Given the description of an element on the screen output the (x, y) to click on. 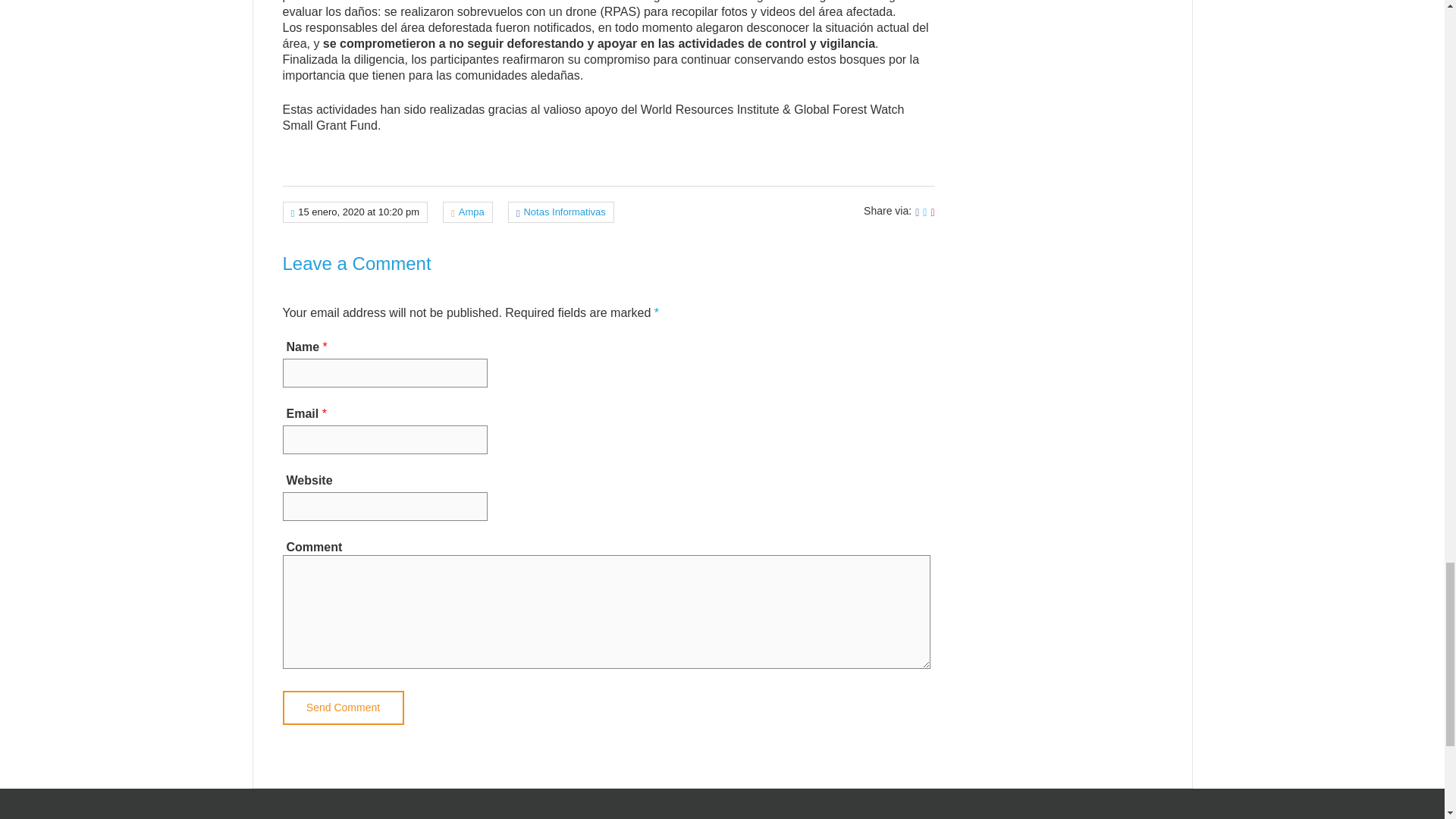
Ampa (471, 211)
Send Comment (342, 707)
Notas Informativas (563, 211)
